Given the description of an element on the screen output the (x, y) to click on. 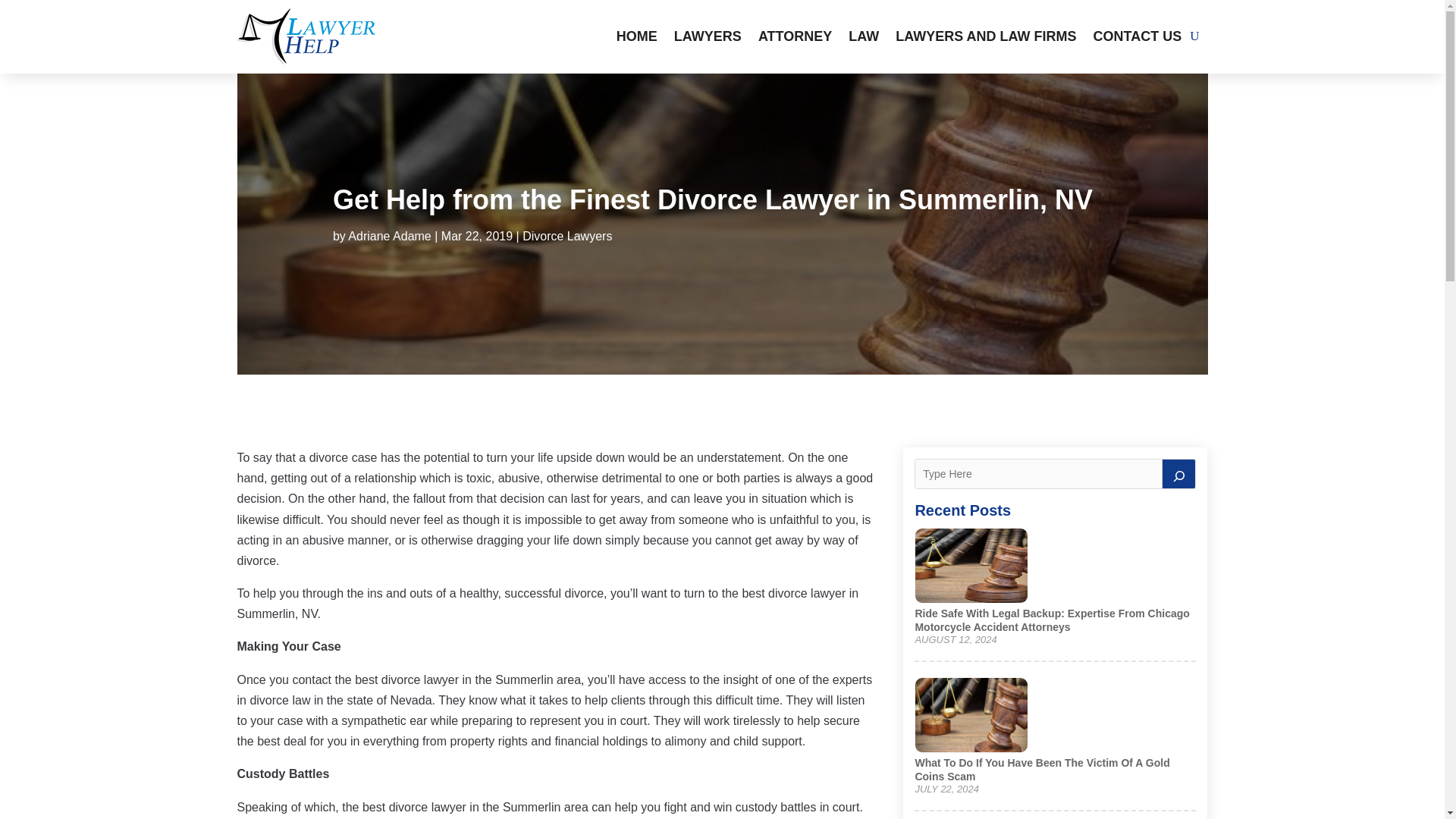
LAWYERS (707, 36)
CONTACT US (1137, 36)
Adriane Adame (388, 236)
ATTORNEY (794, 36)
Posts by Adriane Adame (388, 236)
LAWYERS AND LAW FIRMS (985, 36)
Divorce Lawyers (566, 236)
What To Do If You Have Been The Victim Of A Gold Coins Scam (1041, 769)
